Given the description of an element on the screen output the (x, y) to click on. 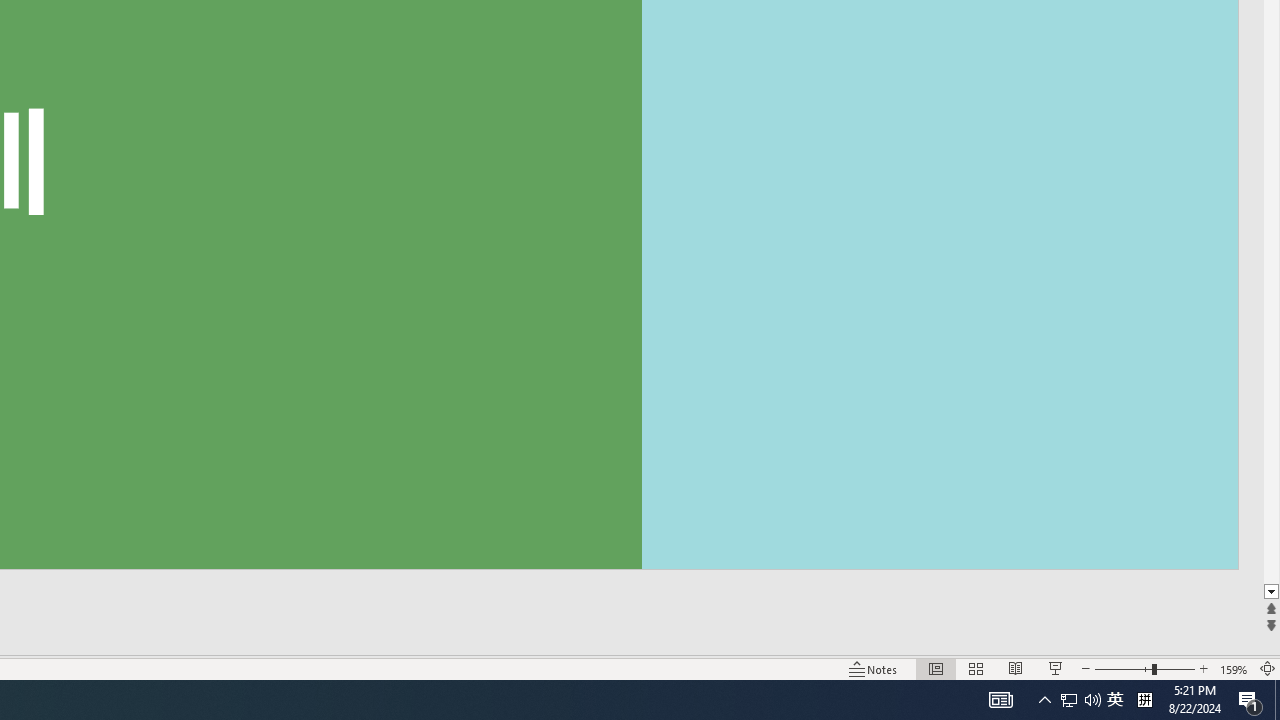
Q2790: 100% (1092, 699)
Zoom 159% (1115, 699)
Notification Chevron (1069, 699)
Tray Input Indicator - Chinese (Simplified, China) (1234, 668)
